Given the description of an element on the screen output the (x, y) to click on. 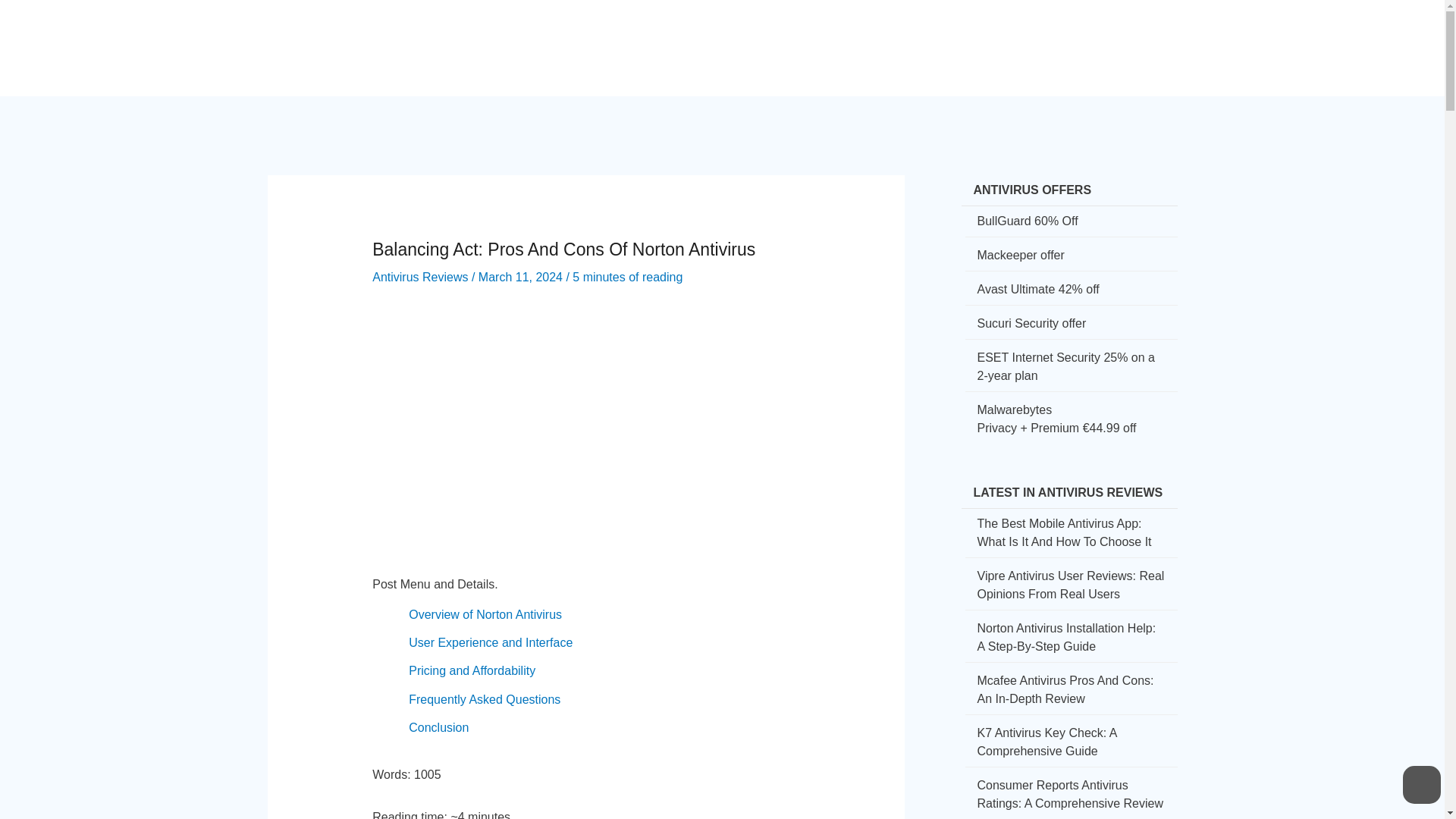
Finances (929, 35)
Gaming (999, 35)
Pricing and Affordability (472, 670)
Overview of Norton Antivirus (485, 614)
Social (863, 35)
Misc (1122, 35)
Frequently Asked Questions (484, 698)
Cyber Security (713, 35)
User Experience and Interface (490, 642)
Antivirus Reviews (419, 277)
Conclusion (438, 727)
How-To (802, 35)
10 Best (1064, 35)
